Given the description of an element on the screen output the (x, y) to click on. 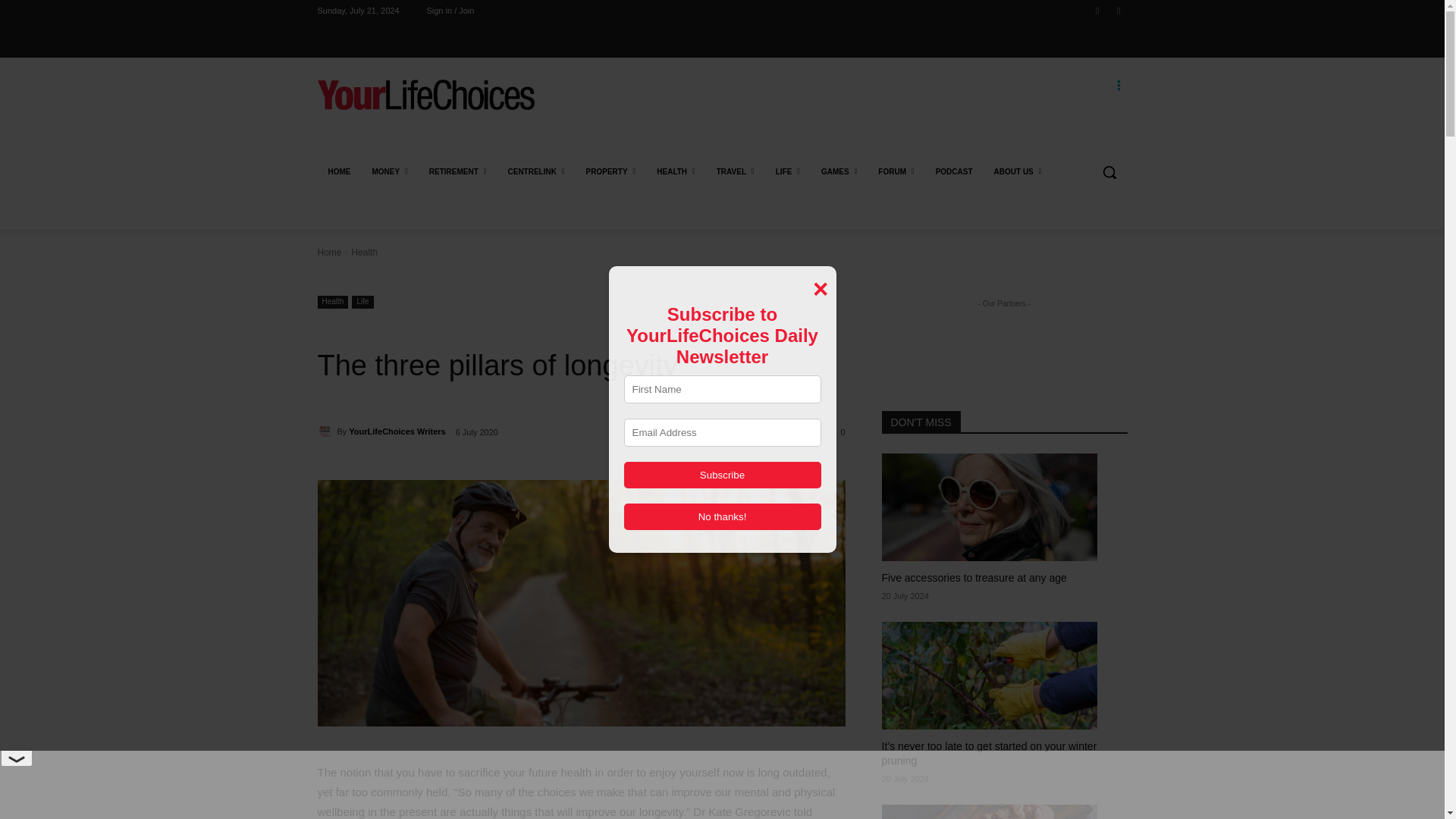
The three pillars of longevity (580, 602)
Facebook (1097, 9)
Twitter (1117, 9)
YourLifeChoices Writers (326, 431)
View all posts in Health (363, 252)
3rd party ad content (849, 112)
